Given the description of an element on the screen output the (x, y) to click on. 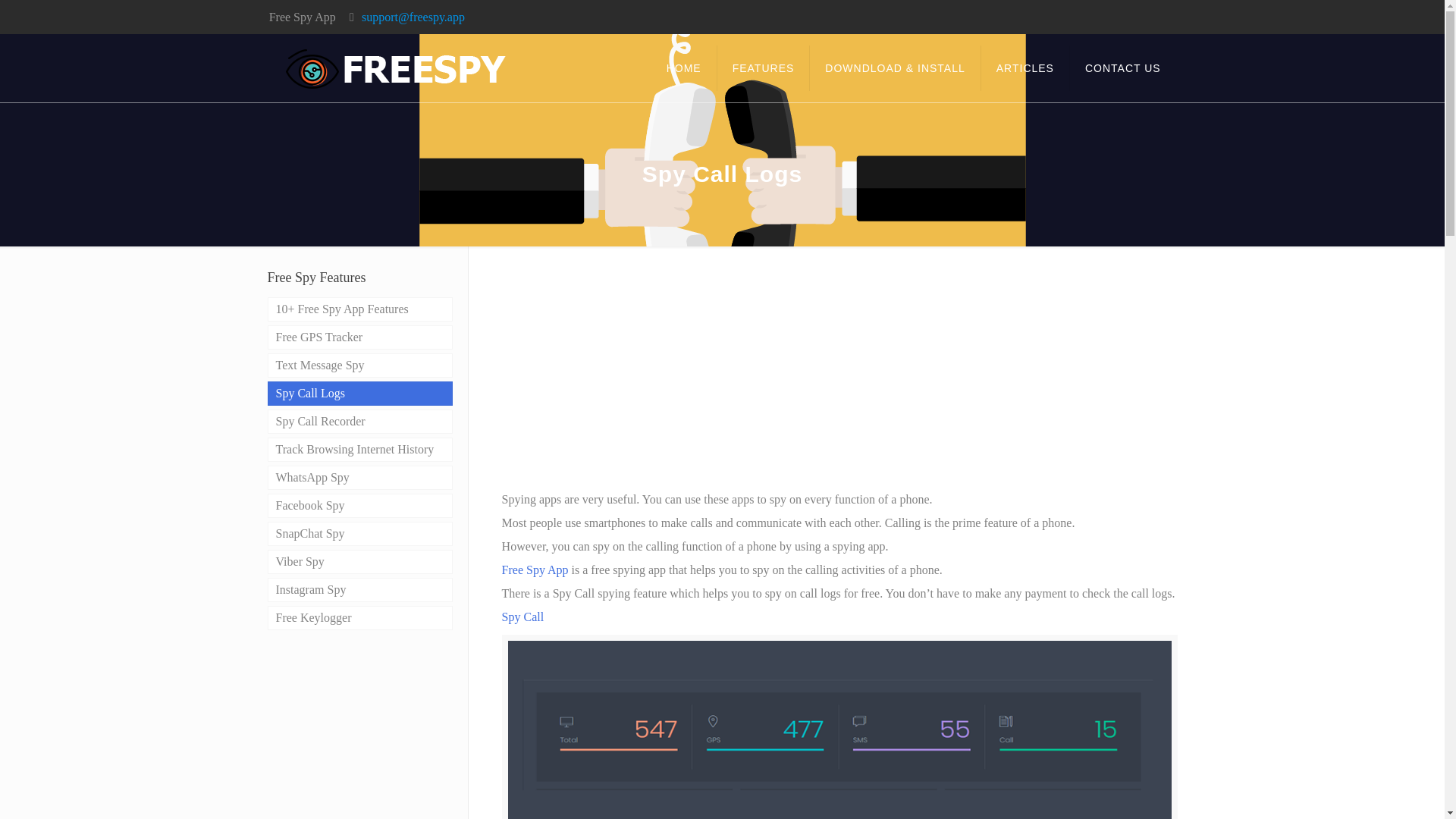
FreeSpy (394, 68)
Spy Call Recorder (358, 421)
HOME (683, 68)
Viber Spy (358, 561)
Free Keylogger (358, 617)
SnapChat Spy (358, 533)
Free GPS Tracker (358, 337)
Instagram Spy (358, 589)
FEATURES (763, 68)
Track Browsing Internet History (358, 449)
Text Message Spy (358, 364)
Free Spy App (535, 569)
ARTICLES (1025, 68)
WhatsApp Spy (358, 477)
